Given the description of an element on the screen output the (x, y) to click on. 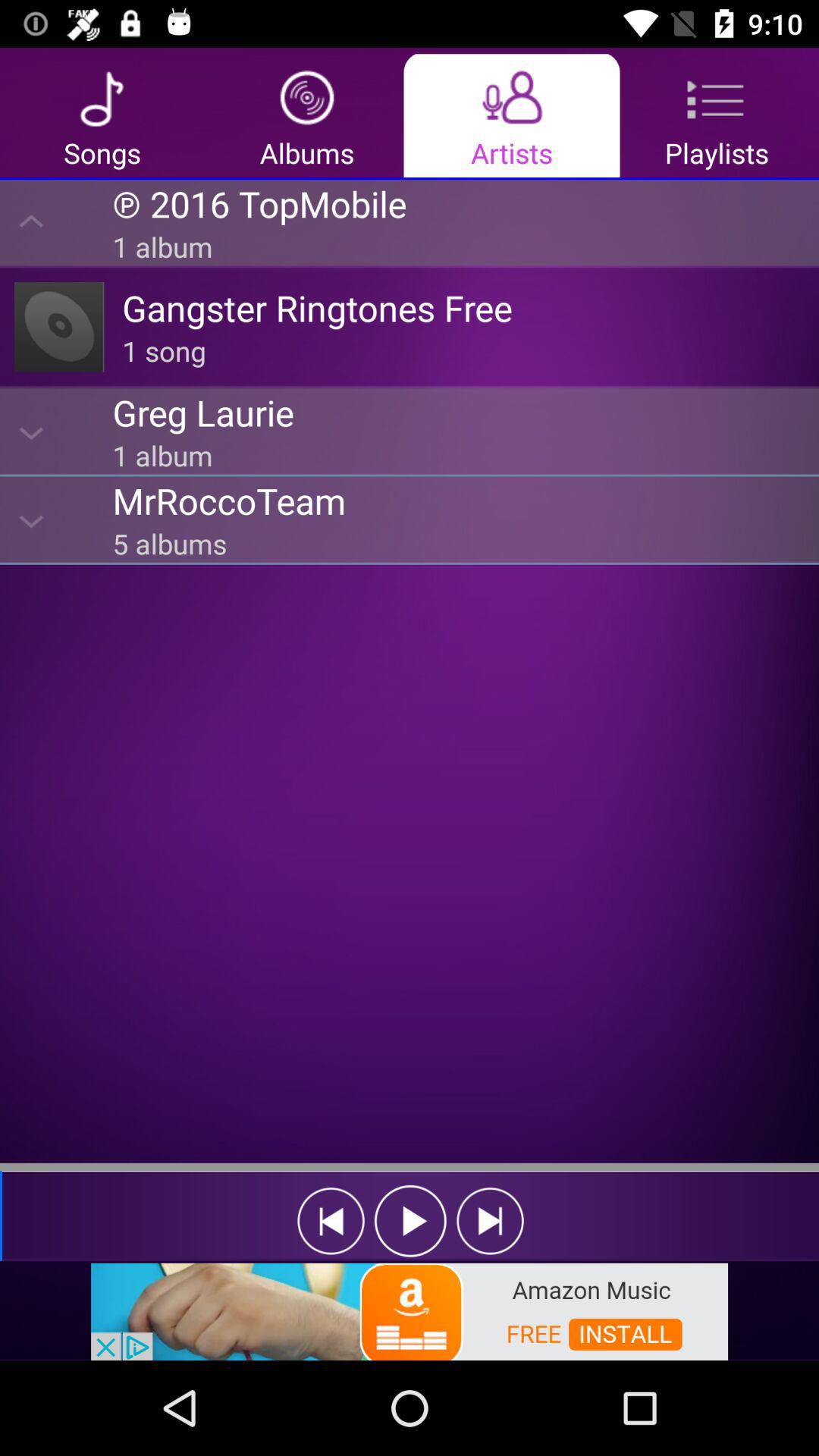
next option (490, 1220)
